Given the description of an element on the screen output the (x, y) to click on. 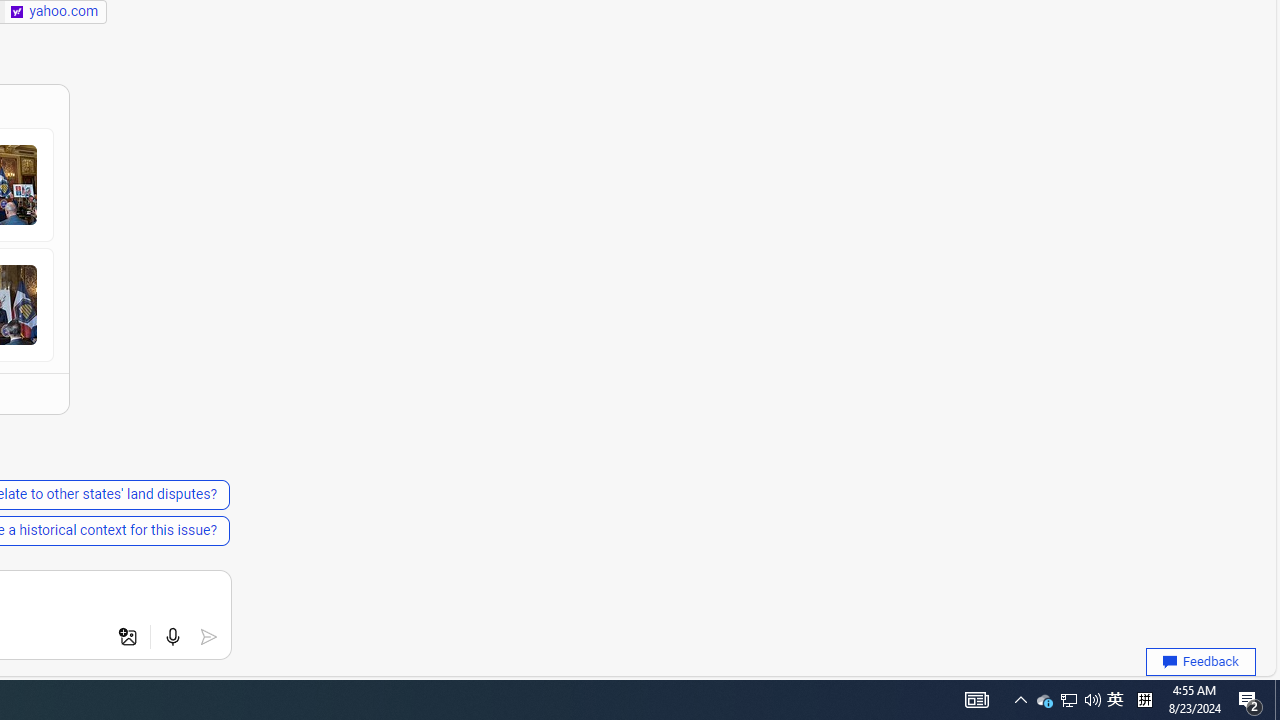
Use microphone (172, 637)
Add an image to search (127, 637)
Submit (208, 637)
